Given the description of an element on the screen output the (x, y) to click on. 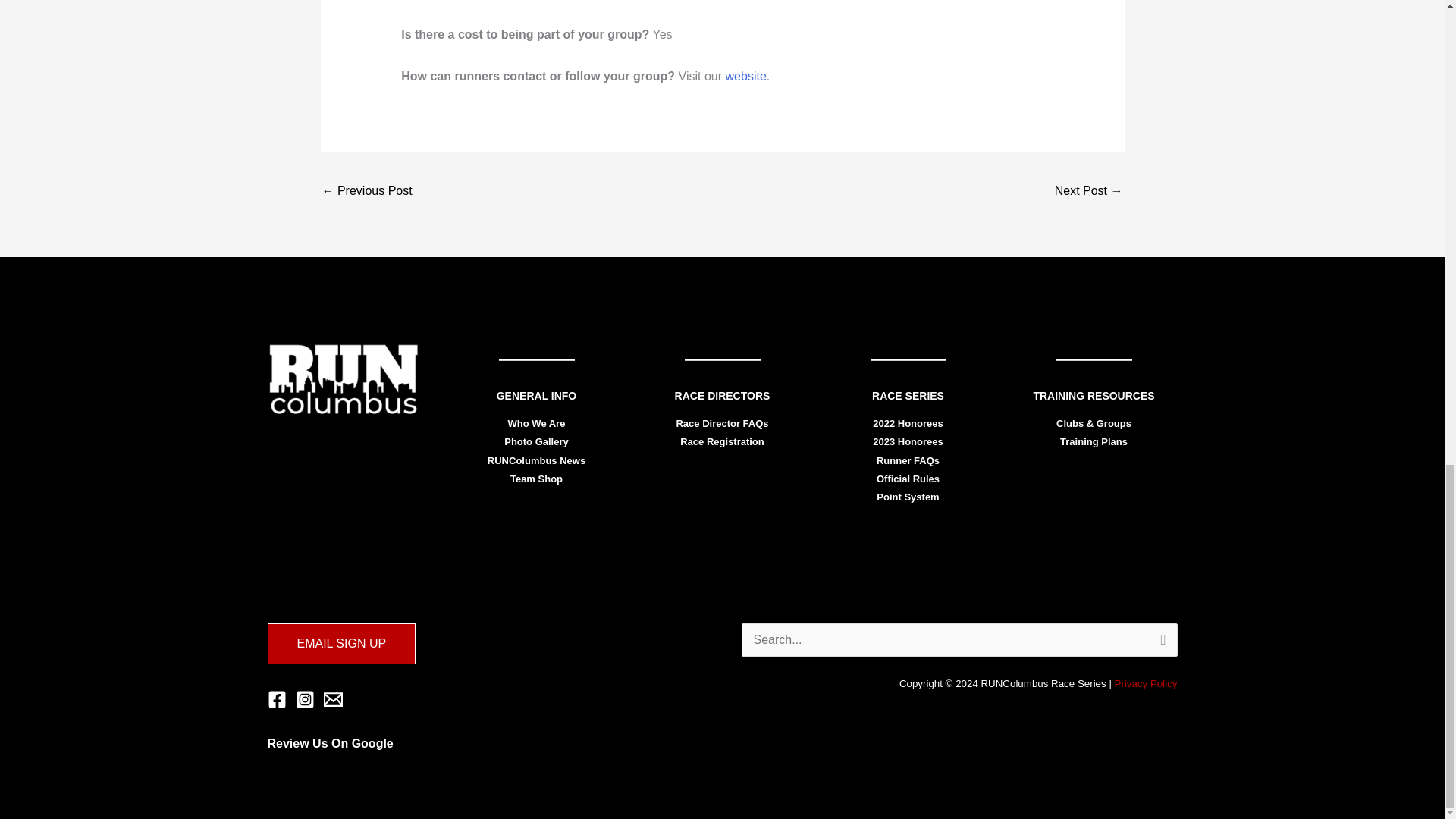
Search (1159, 639)
Search (1159, 639)
2023 Honorees (907, 441)
Point System (907, 496)
Photo Gallery (536, 441)
Privacy Policy (1146, 683)
Official Rules (907, 478)
Training Plans (1092, 441)
Runner FAQs (907, 460)
Race Registration (721, 441)
Who We Are (537, 423)
website (746, 75)
EMAIL SIGN UP (340, 643)
Team Shop (536, 478)
Search (1159, 639)
